Given the description of an element on the screen output the (x, y) to click on. 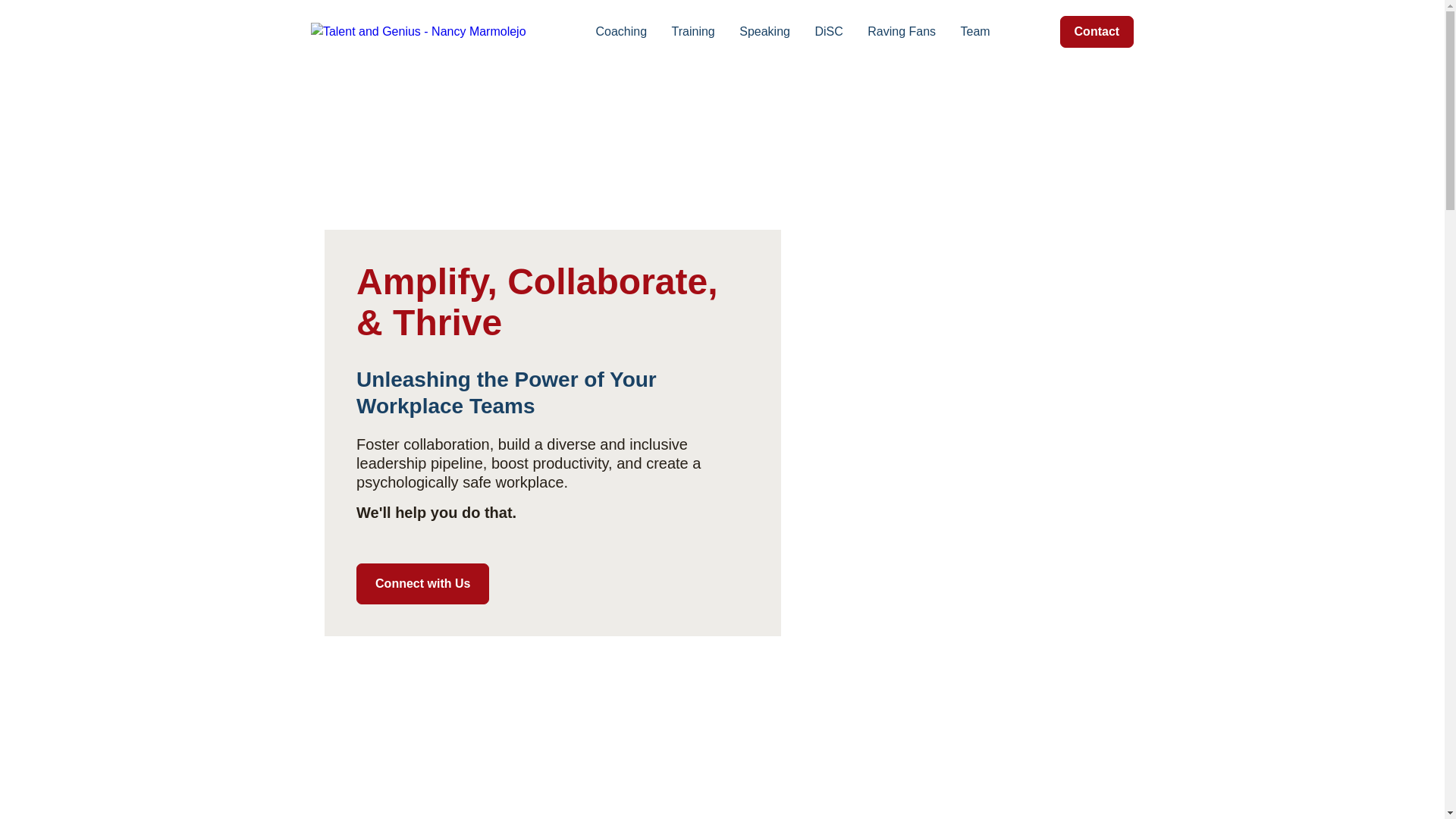
Coaching (620, 32)
Contact (1096, 31)
Speaking (764, 32)
Connect with Us (422, 583)
Raving Fans (901, 32)
Training (692, 32)
